Given the description of an element on the screen output the (x, y) to click on. 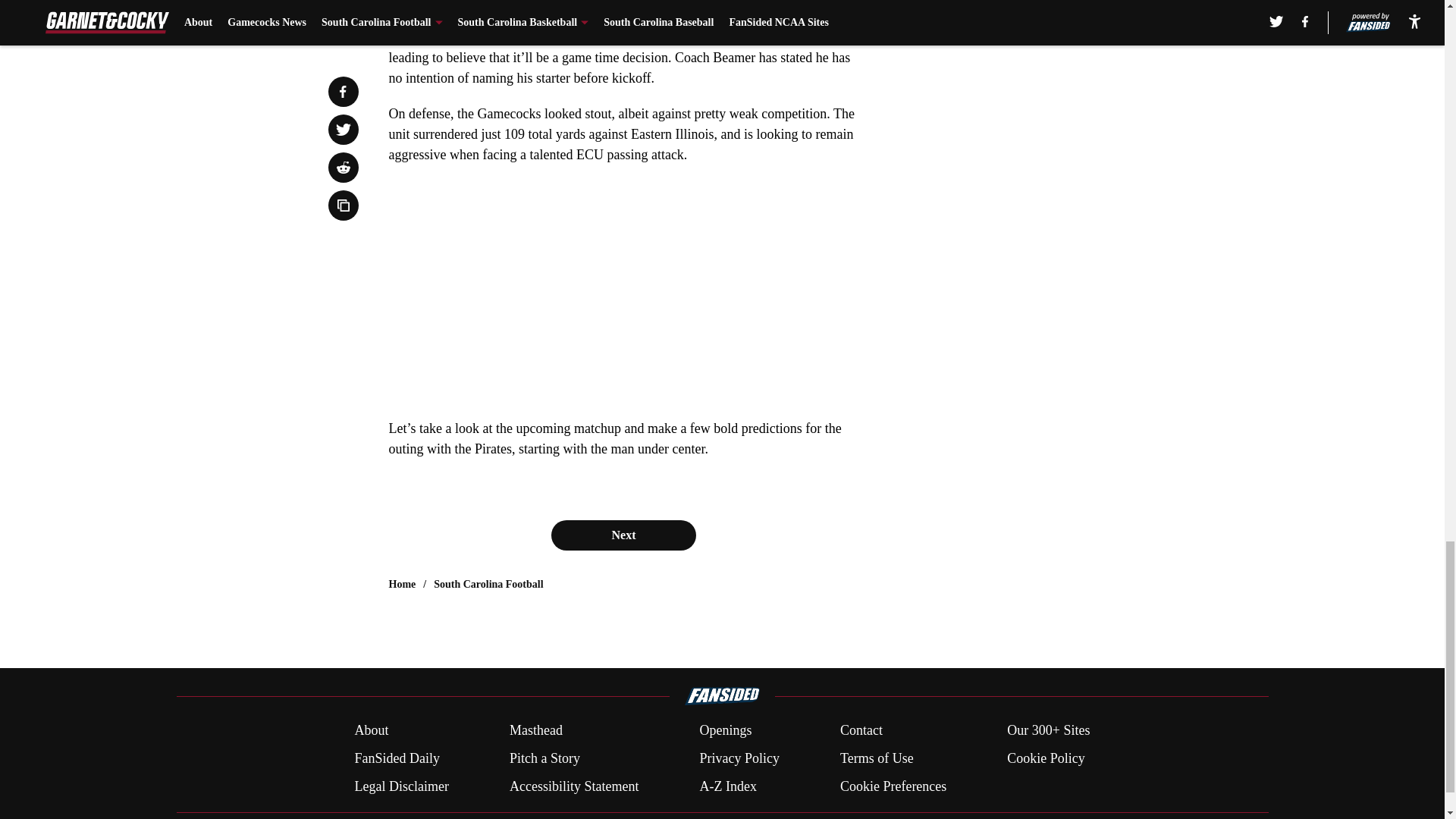
Home (401, 584)
Masthead (535, 730)
South Carolina Football (488, 584)
About (370, 730)
Openings (724, 730)
Next (622, 535)
Contact (861, 730)
